Given the description of an element on the screen output the (x, y) to click on. 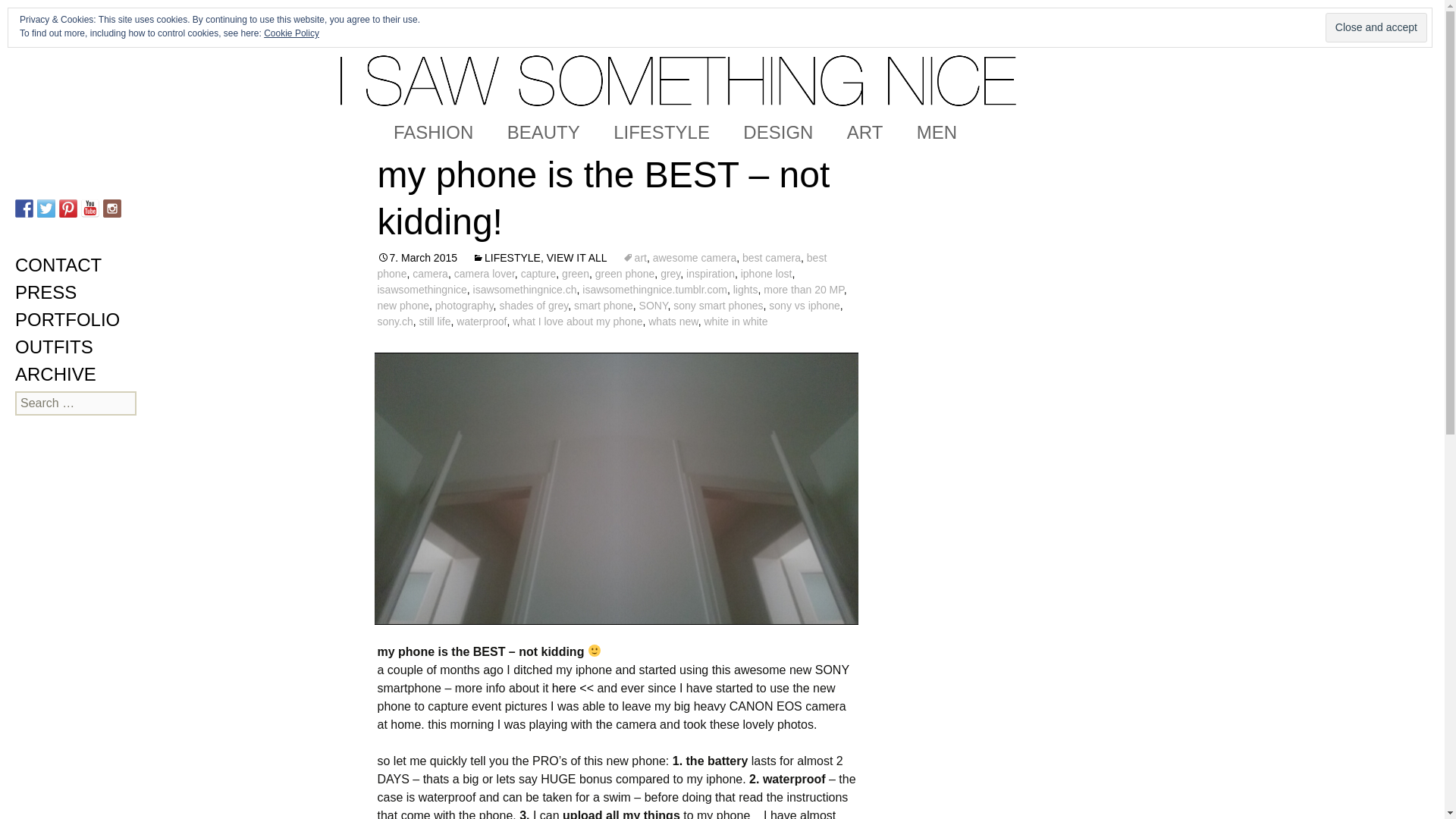
LIFESTYLE (661, 132)
I SAW SOMETHING NICE (722, 56)
best phone (602, 265)
camera (430, 273)
new phone (403, 305)
grey (670, 273)
Close and accept (1375, 27)
more than 20 MP (803, 289)
shades of grey (533, 305)
